Given the description of an element on the screen output the (x, y) to click on. 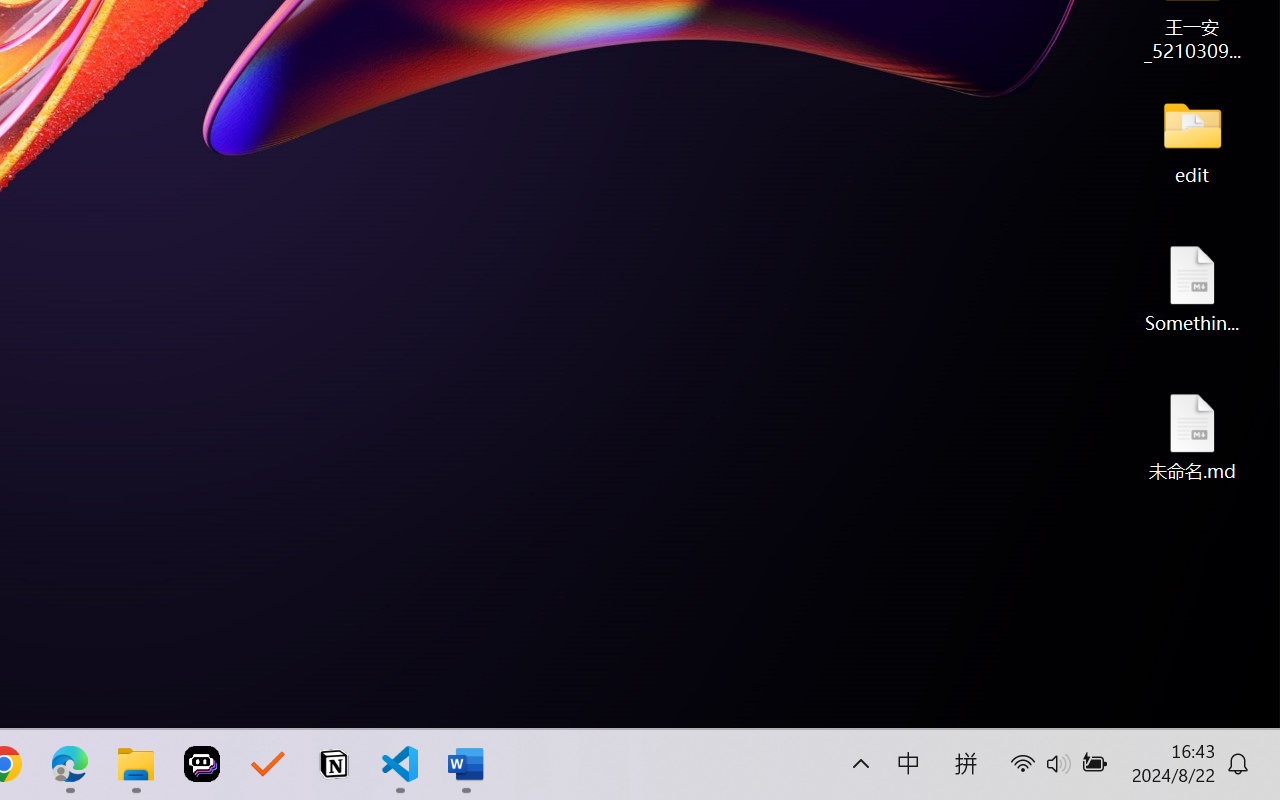
Something.md (1192, 288)
edit (1192, 140)
